Given the description of an element on the screen output the (x, y) to click on. 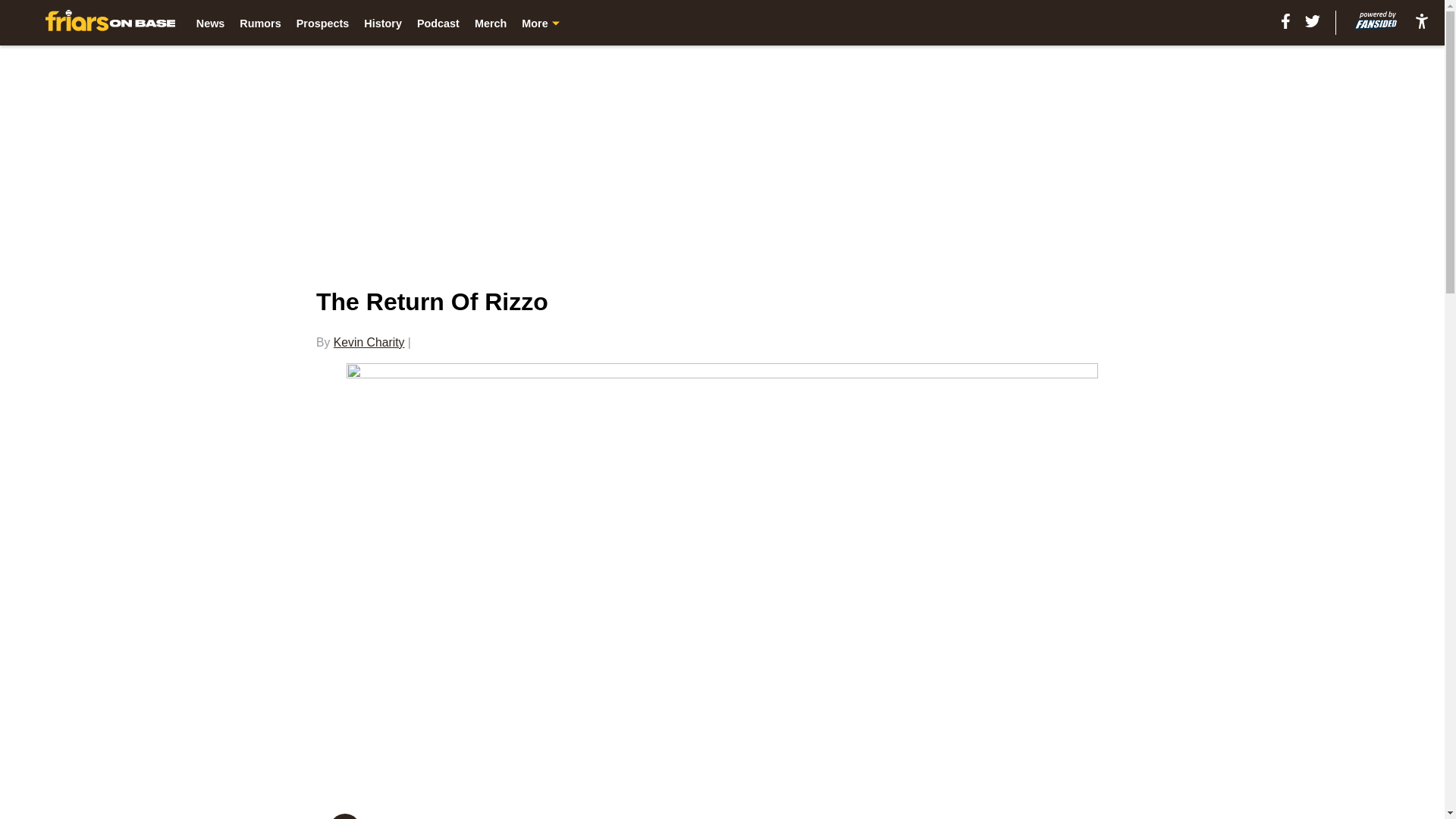
News (210, 23)
History (382, 23)
Kevin Charity (368, 341)
Merch (490, 23)
Rumors (260, 23)
Podcast (438, 23)
Prospects (323, 23)
